Given the description of an element on the screen output the (x, y) to click on. 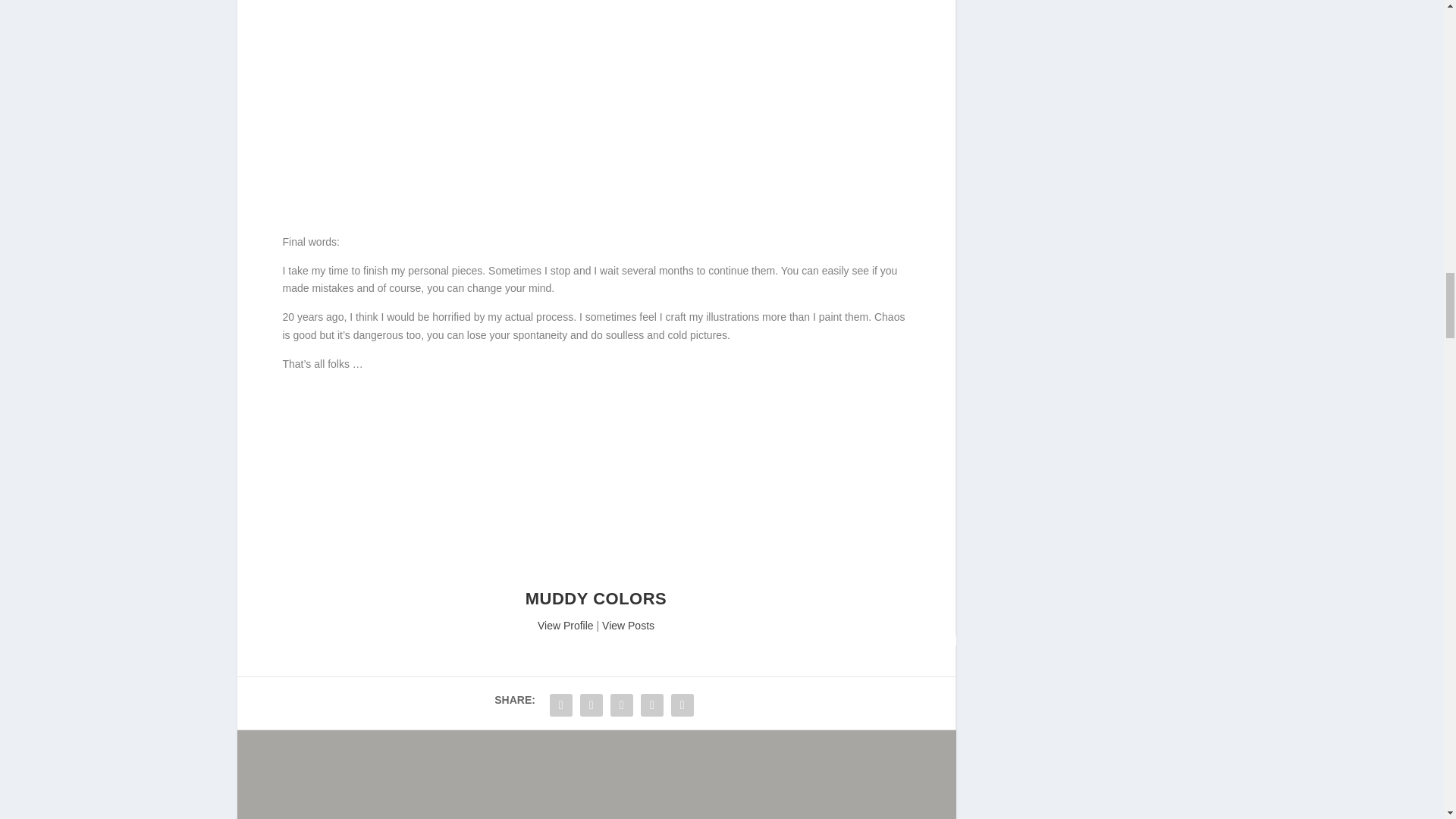
About the author (596, 580)
View all posts by Muddy Colors (595, 598)
Share "Computers and Chaos" via Tumblr (651, 705)
Share "Computers and Chaos" via Pinterest (681, 705)
Share "Computers and Chaos" via Facebook (561, 705)
About the author (565, 625)
Share "Computers and Chaos" via Twitter (591, 705)
